Given the description of an element on the screen output the (x, y) to click on. 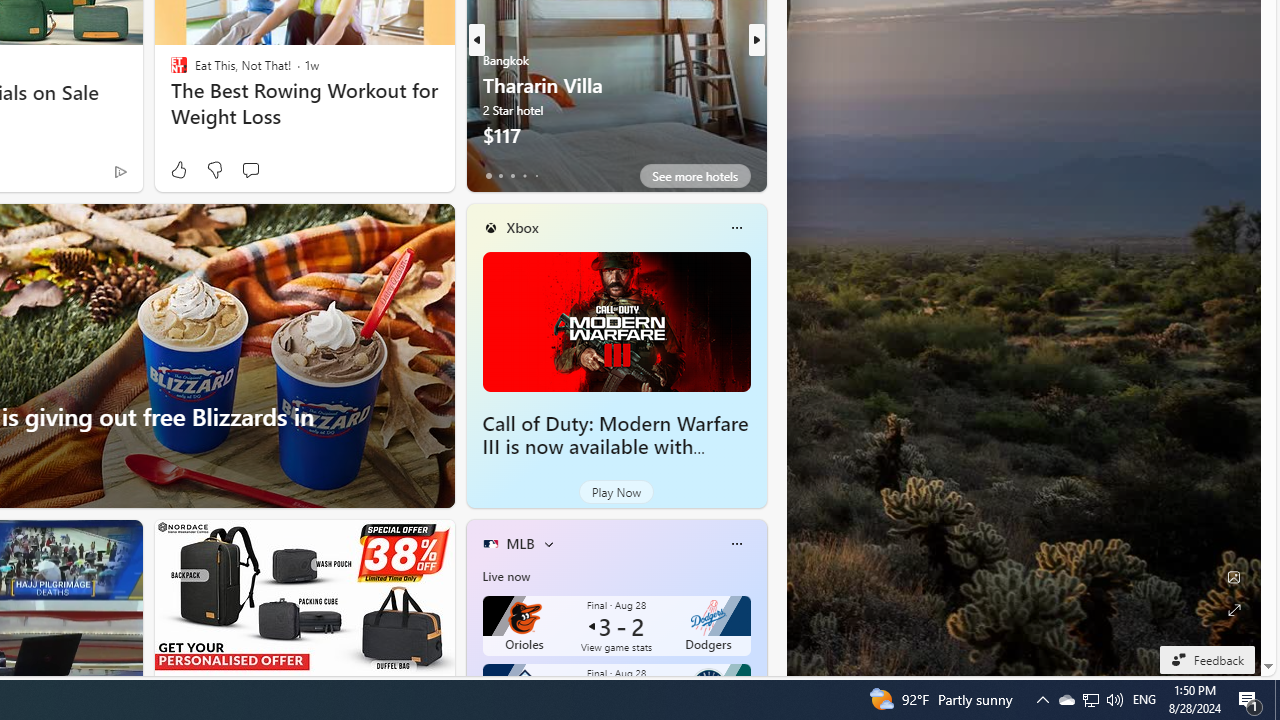
next (756, 39)
Start the conversation (250, 169)
Start the conversation (249, 170)
previous (476, 39)
tab-1 (500, 175)
Feedback (1206, 659)
tab-3 (524, 175)
tab-2 (511, 175)
More interests (548, 543)
MLB (520, 543)
